Given the description of an element on the screen output the (x, y) to click on. 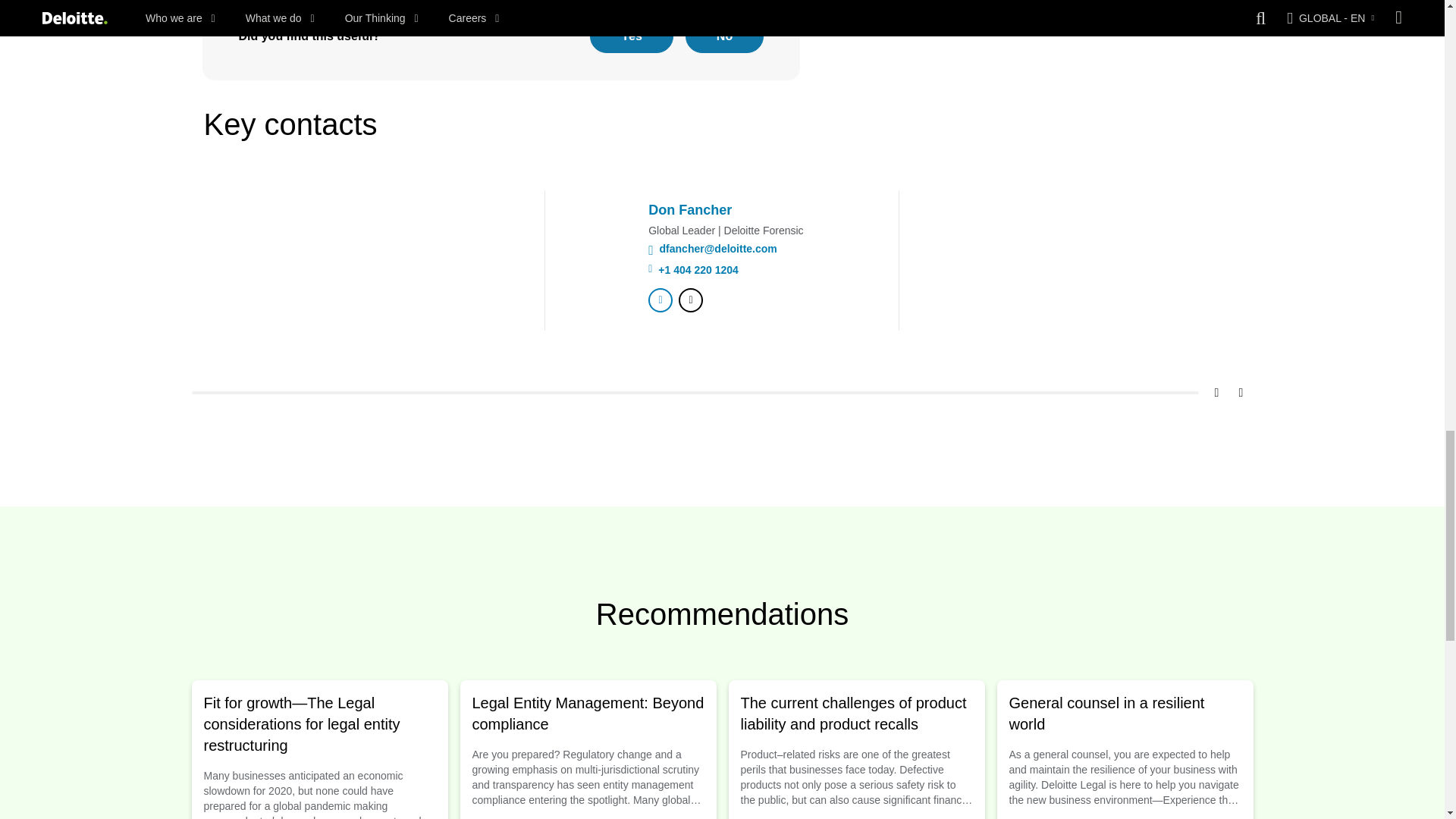
connect via linkedin (659, 300)
